Given the description of an element on the screen output the (x, y) to click on. 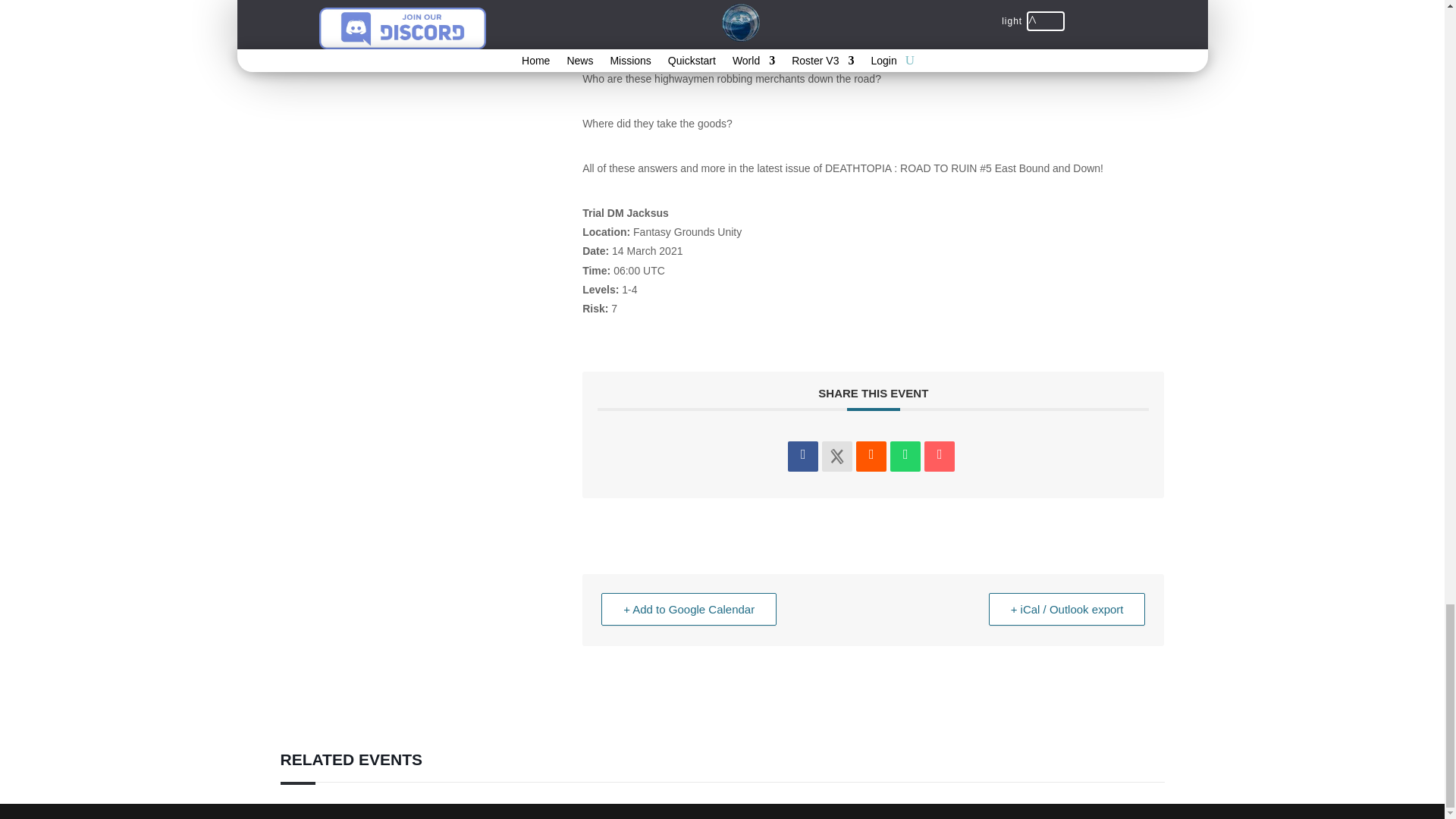
Email (939, 456)
Share on Reddit (871, 456)
X Social Network (836, 456)
Share on WhatsApp (904, 456)
Share on Facebook (802, 456)
